Given the description of an element on the screen output the (x, y) to click on. 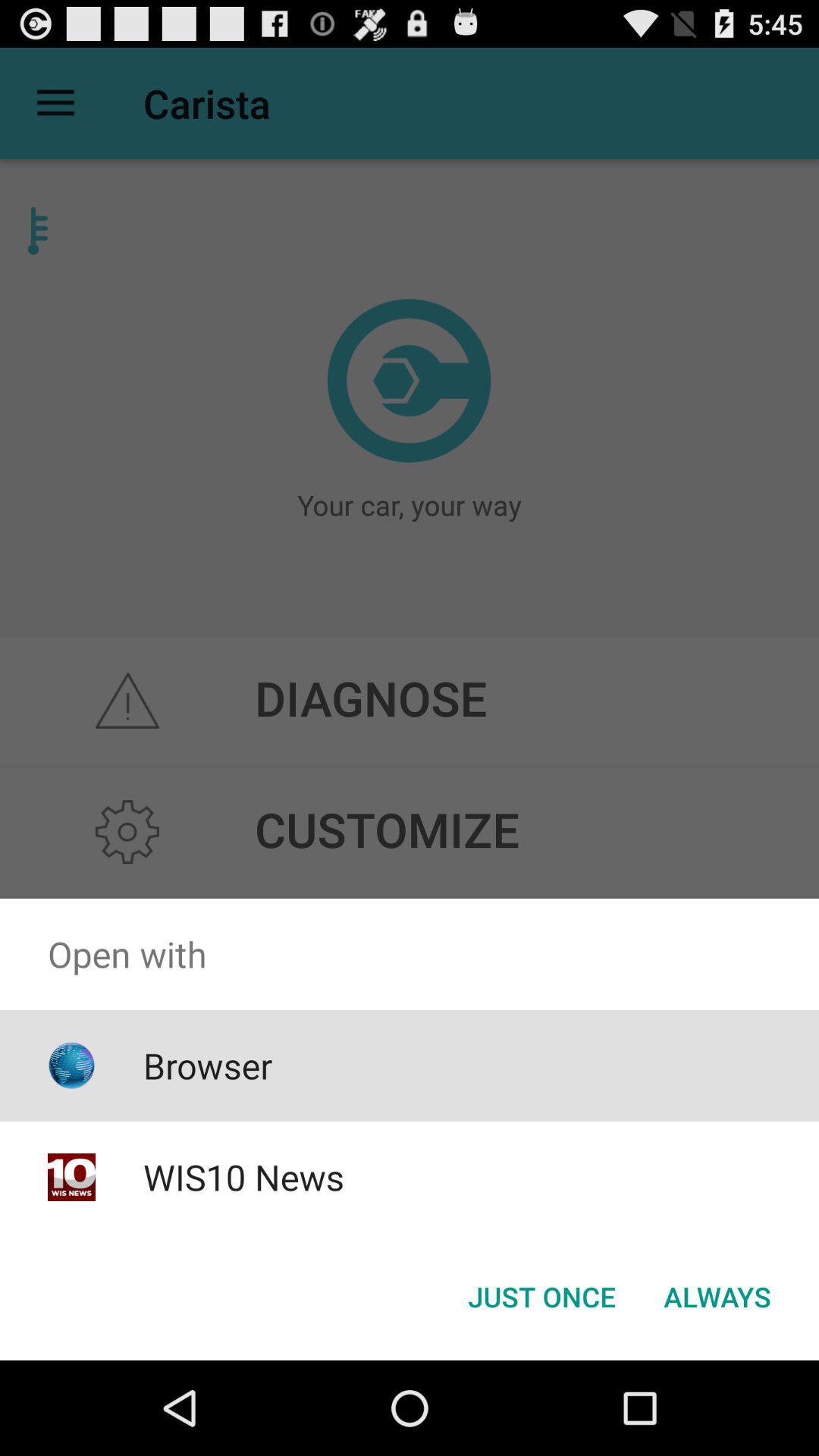
select browser app (207, 1065)
